Given the description of an element on the screen output the (x, y) to click on. 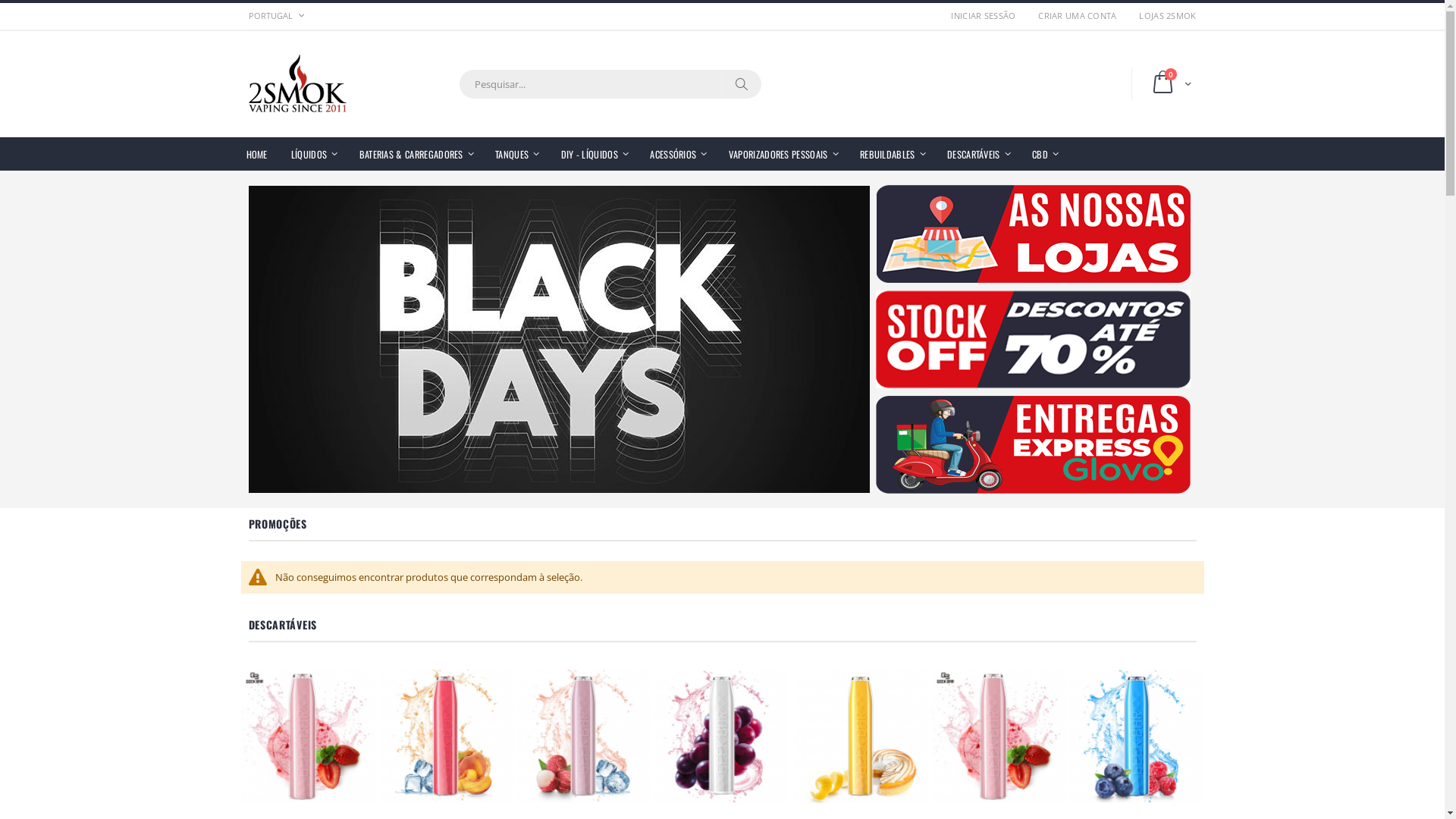
TANQUES Element type: text (517, 153)
CRIAR UMA CONTA Element type: text (1076, 15)
HOME Element type: text (256, 153)
BATERIAS & CARREGADORES Element type: text (416, 153)
VAPORIZADORES PESSOAIS Element type: text (783, 153)
LOJAS 2SMOK Element type: text (1161, 15)
Cart
0 Element type: text (1168, 84)
Search Element type: text (739, 84)
REBUILDABLES Element type: text (892, 153)
CBD Element type: text (1044, 153)
